Given the description of an element on the screen output the (x, y) to click on. 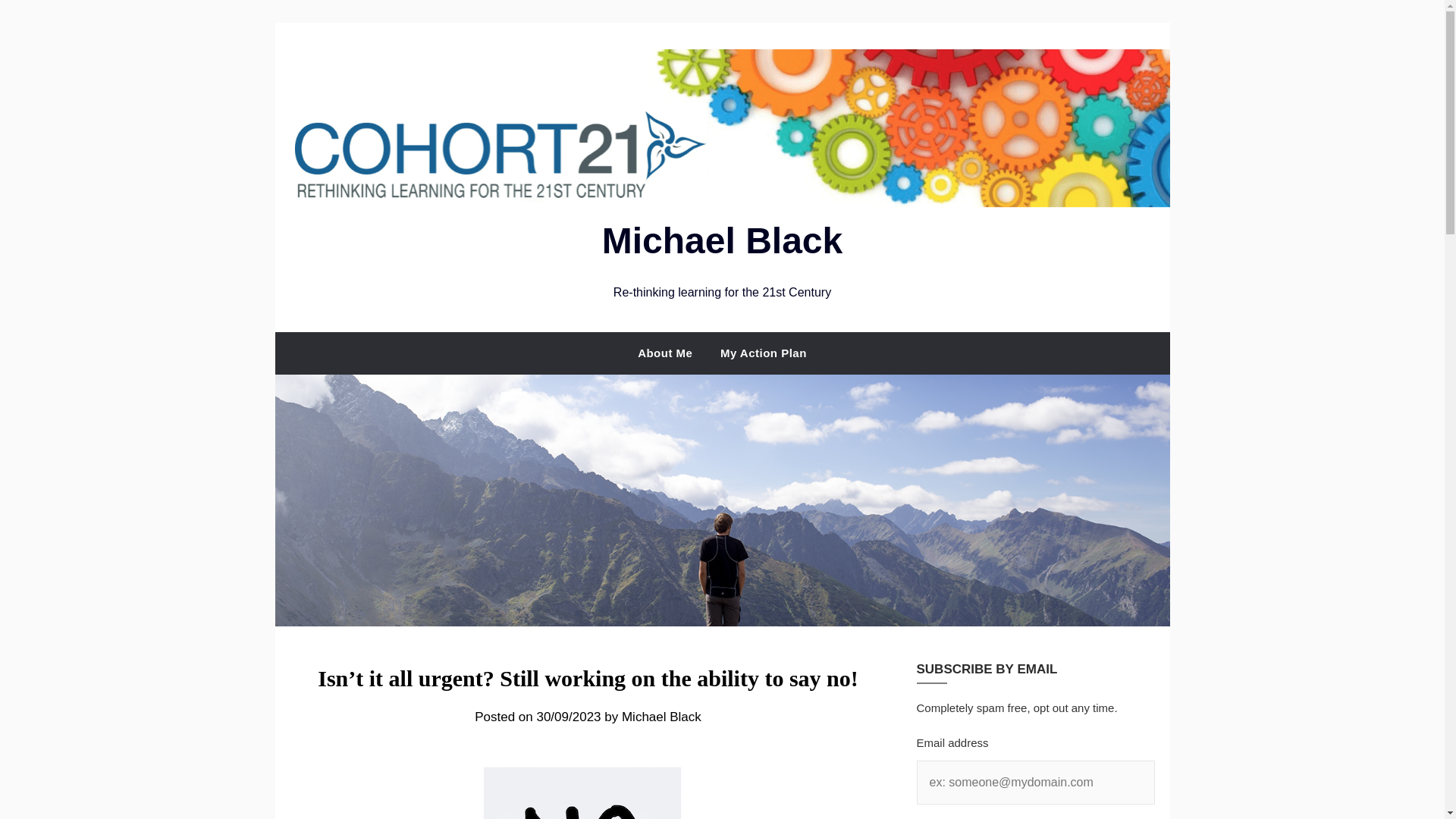
My Action Plan (762, 352)
Michael Black (722, 240)
Michael Black (661, 716)
About Me (665, 352)
